Given the description of an element on the screen output the (x, y) to click on. 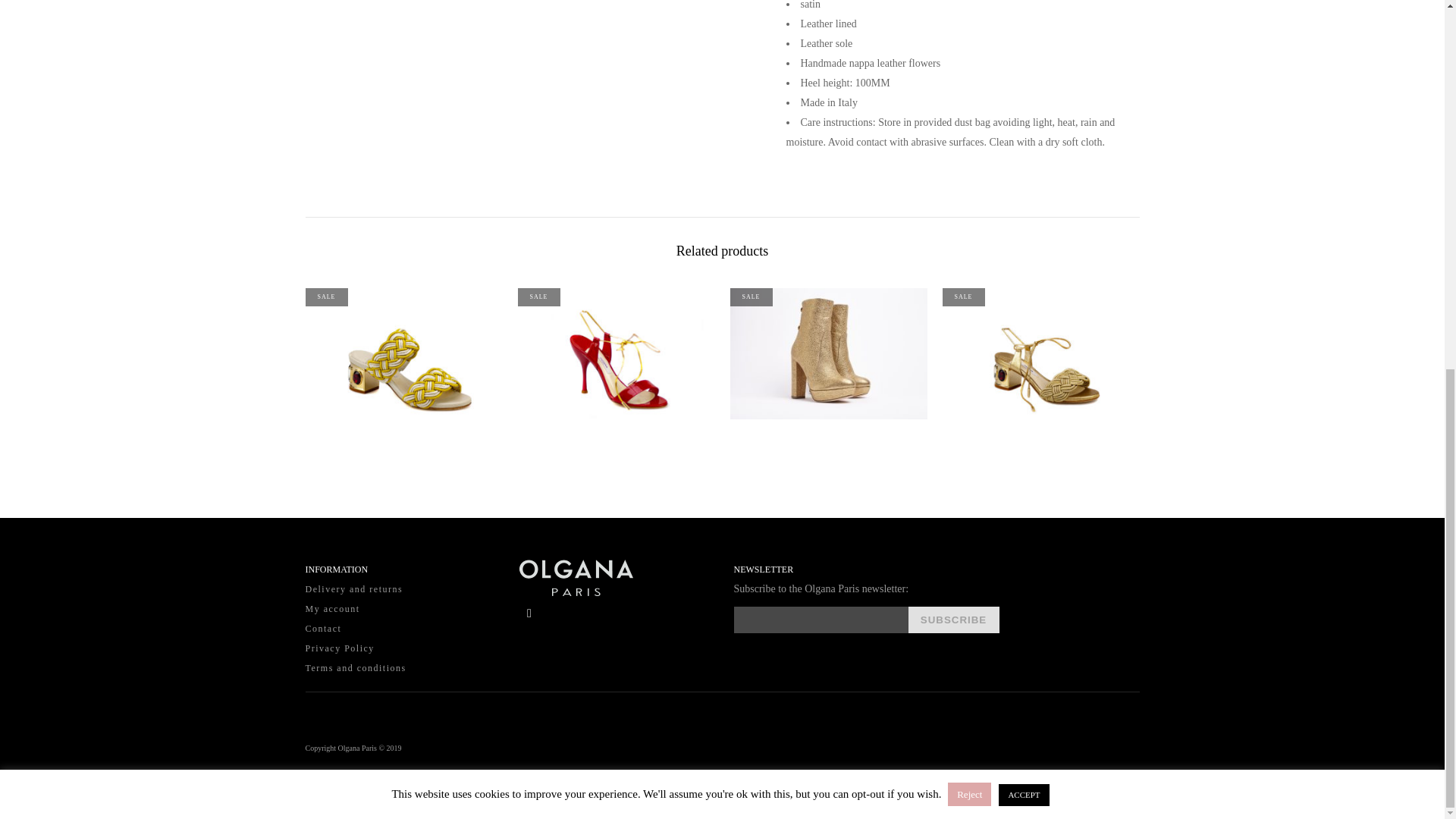
Subscribe (953, 619)
